Given the description of an element on the screen output the (x, y) to click on. 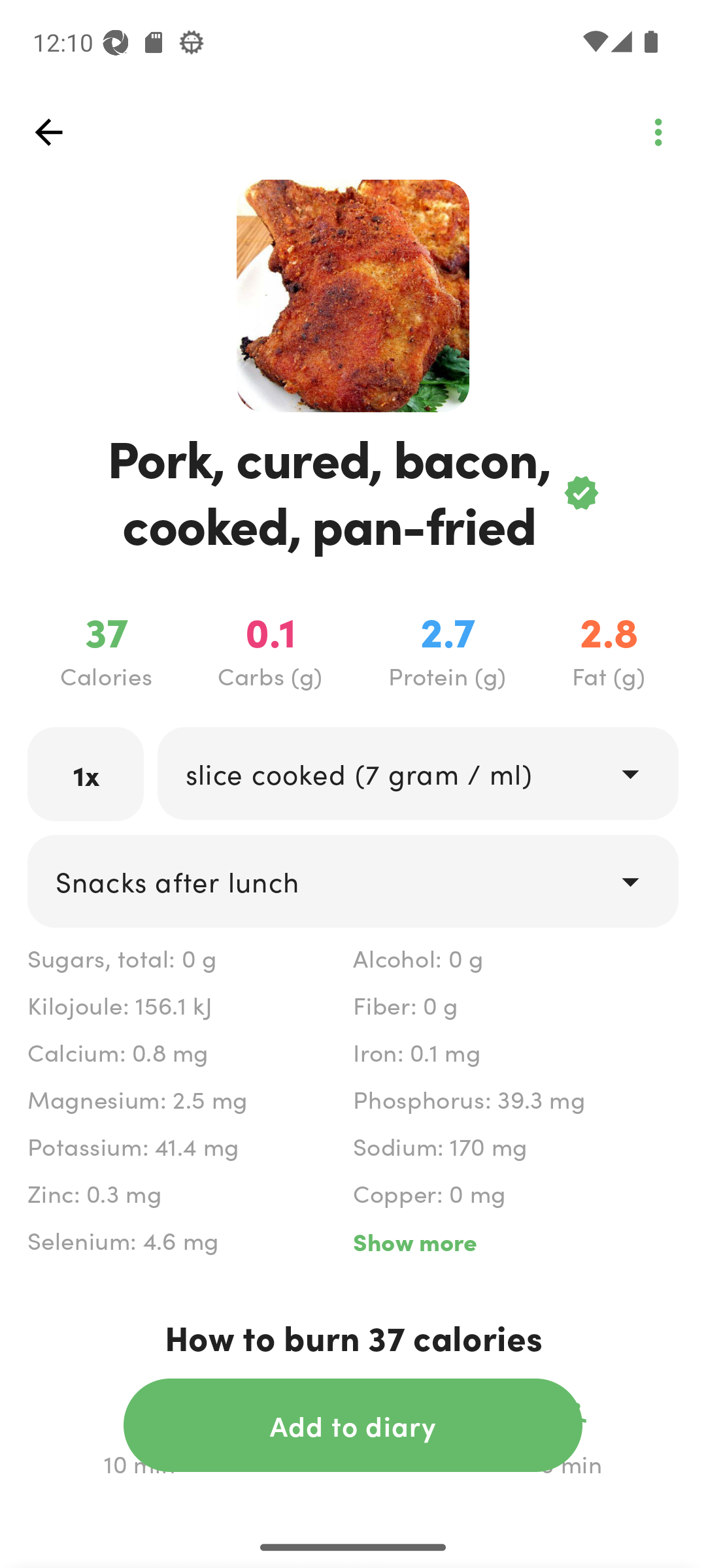
top_left_action (48, 132)
top_left_action (658, 132)
1x labeled_edit_text (85, 774)
drop_down slice cooked (7 gram / ml) (417, 773)
drop_down Snacks after lunch (352, 881)
Show more (515, 1240)
action_button Add to diary (352, 1425)
